Given the description of an element on the screen output the (x, y) to click on. 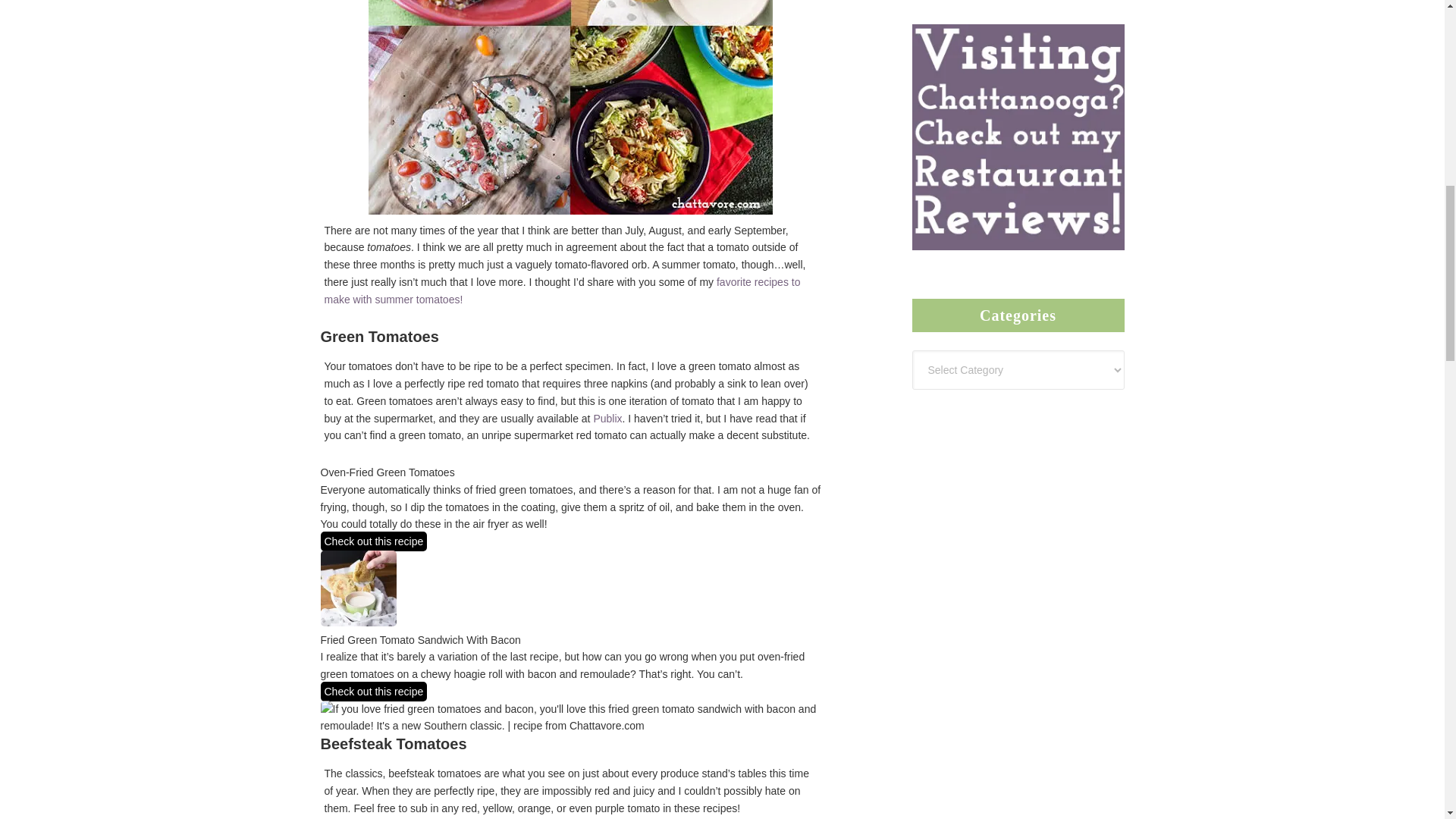
Check out this recipe (373, 541)
Check out this recipe (373, 691)
favorite recipes to make with summer tomatoes! (562, 290)
Publix (606, 418)
